Given the description of an element on the screen output the (x, y) to click on. 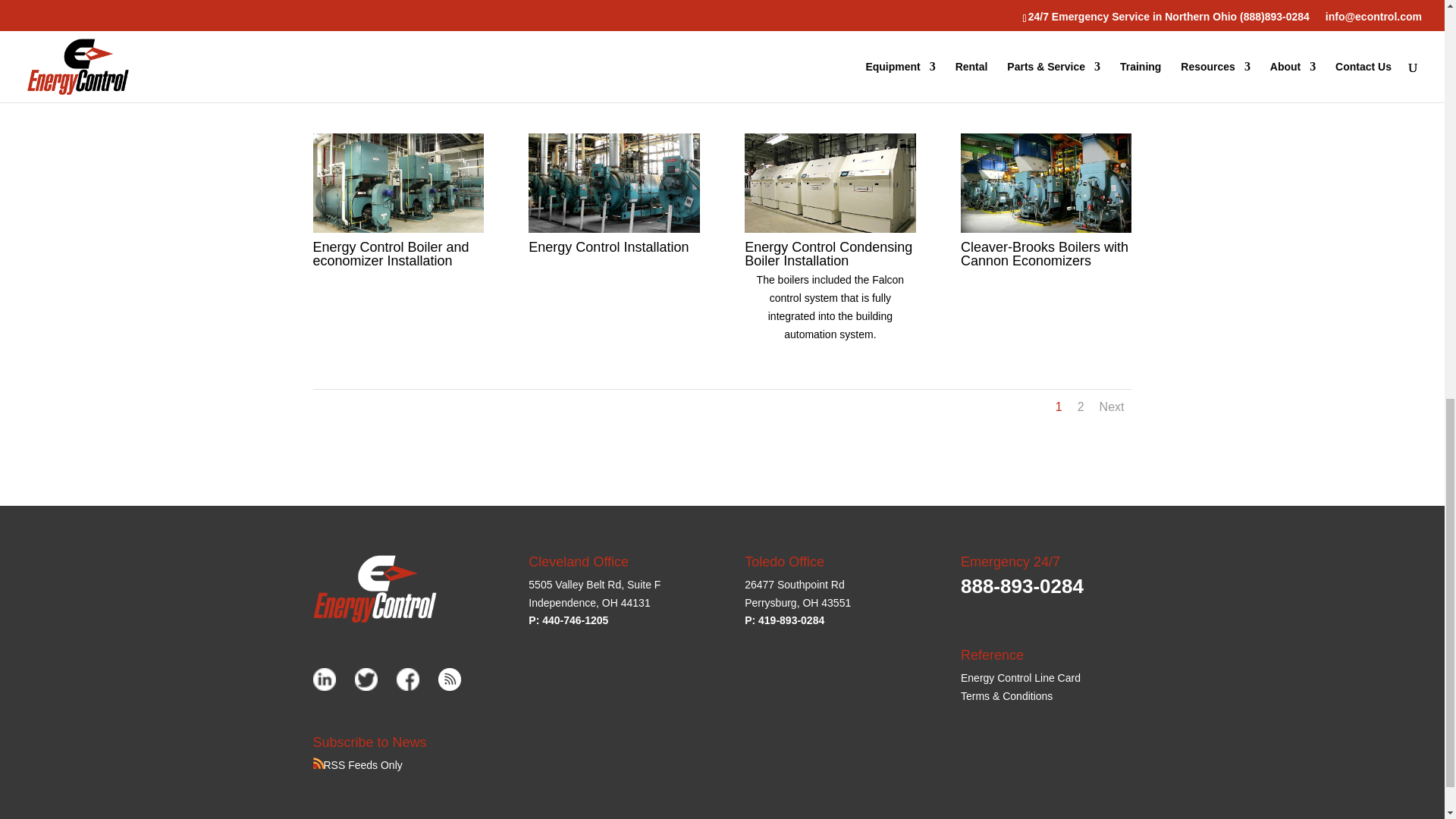
CleaverBrooks FT Boilers w Economizers (829, 50)
Firetube Boiler Installation (613, 50)
Energy Control Boiler Feed and Pump Installation (398, 50)
Energy Control Burner Retrofit (1045, 50)
